Given the description of an element on the screen output the (x, y) to click on. 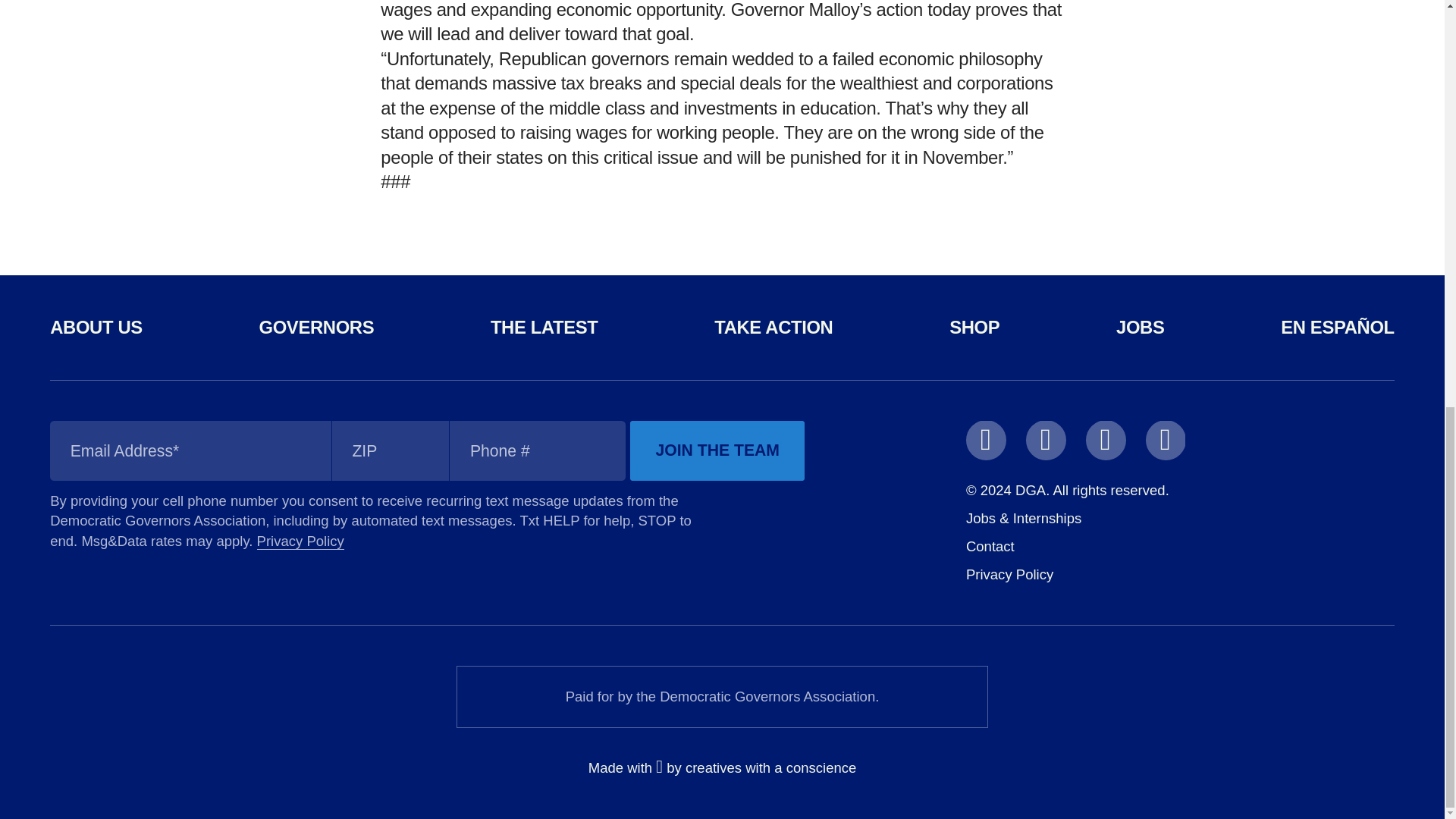
Privacy Policy (1009, 574)
Contact (990, 546)
Privacy Policy (300, 540)
JOIN THE TEAM (717, 450)
TAKE ACTION (773, 326)
THE LATEST (544, 326)
ABOUT US (95, 326)
JOBS (1139, 326)
SHOP (973, 326)
GOVERNORS (316, 326)
